Given the description of an element on the screen output the (x, y) to click on. 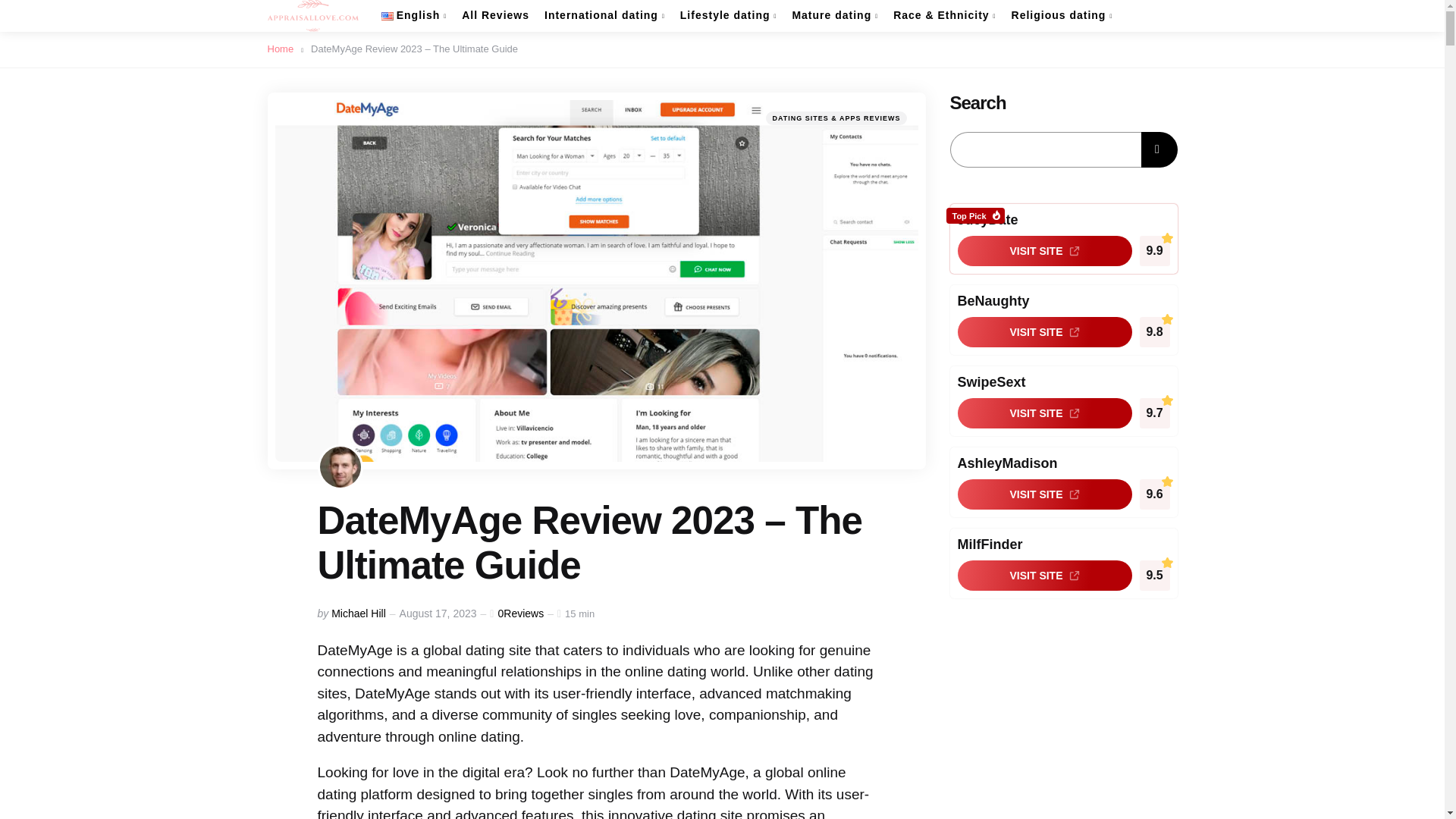
Mature dating (834, 15)
Lifestyle dating (728, 15)
Home (284, 48)
Religious dating (1062, 15)
International dating (604, 15)
All Reviews (495, 15)
English (413, 15)
